Given the description of an element on the screen output the (x, y) to click on. 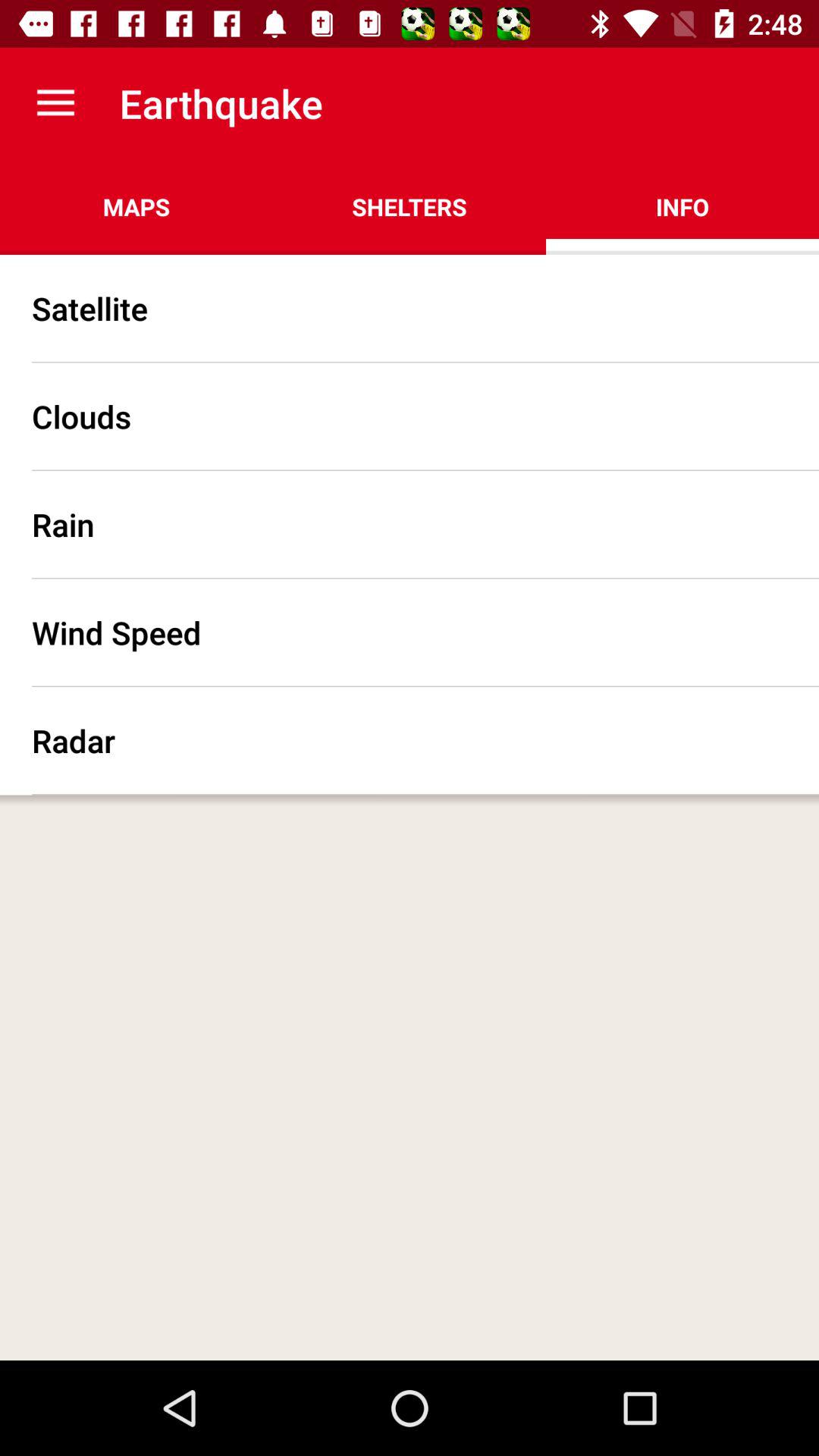
open the item next to shelters (682, 206)
